Given the description of an element on the screen output the (x, y) to click on. 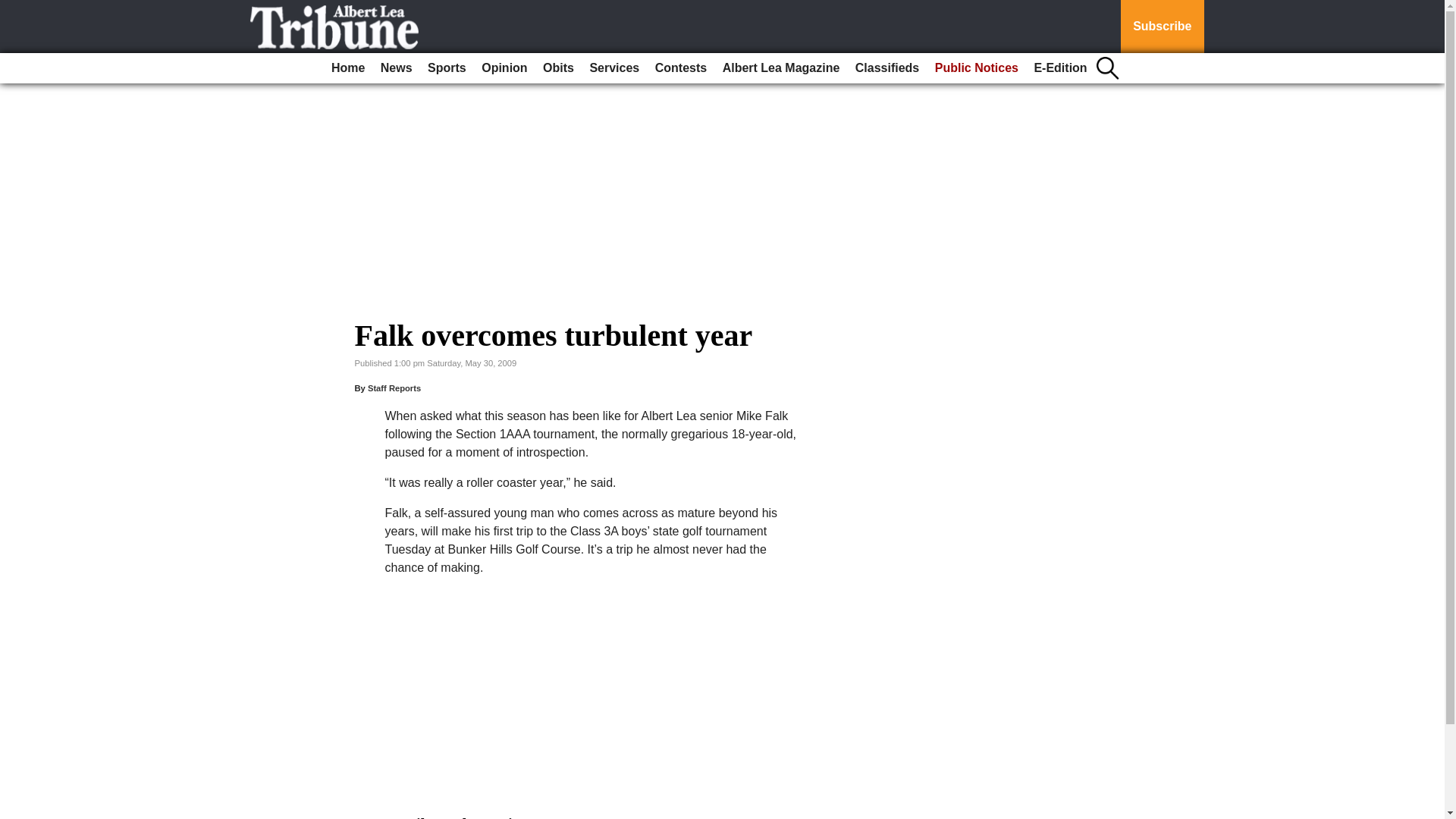
Opinion (504, 68)
Obits (558, 68)
Sports (446, 68)
Home (347, 68)
Subscribe (1162, 26)
News (396, 68)
Services (614, 68)
